Given the description of an element on the screen output the (x, y) to click on. 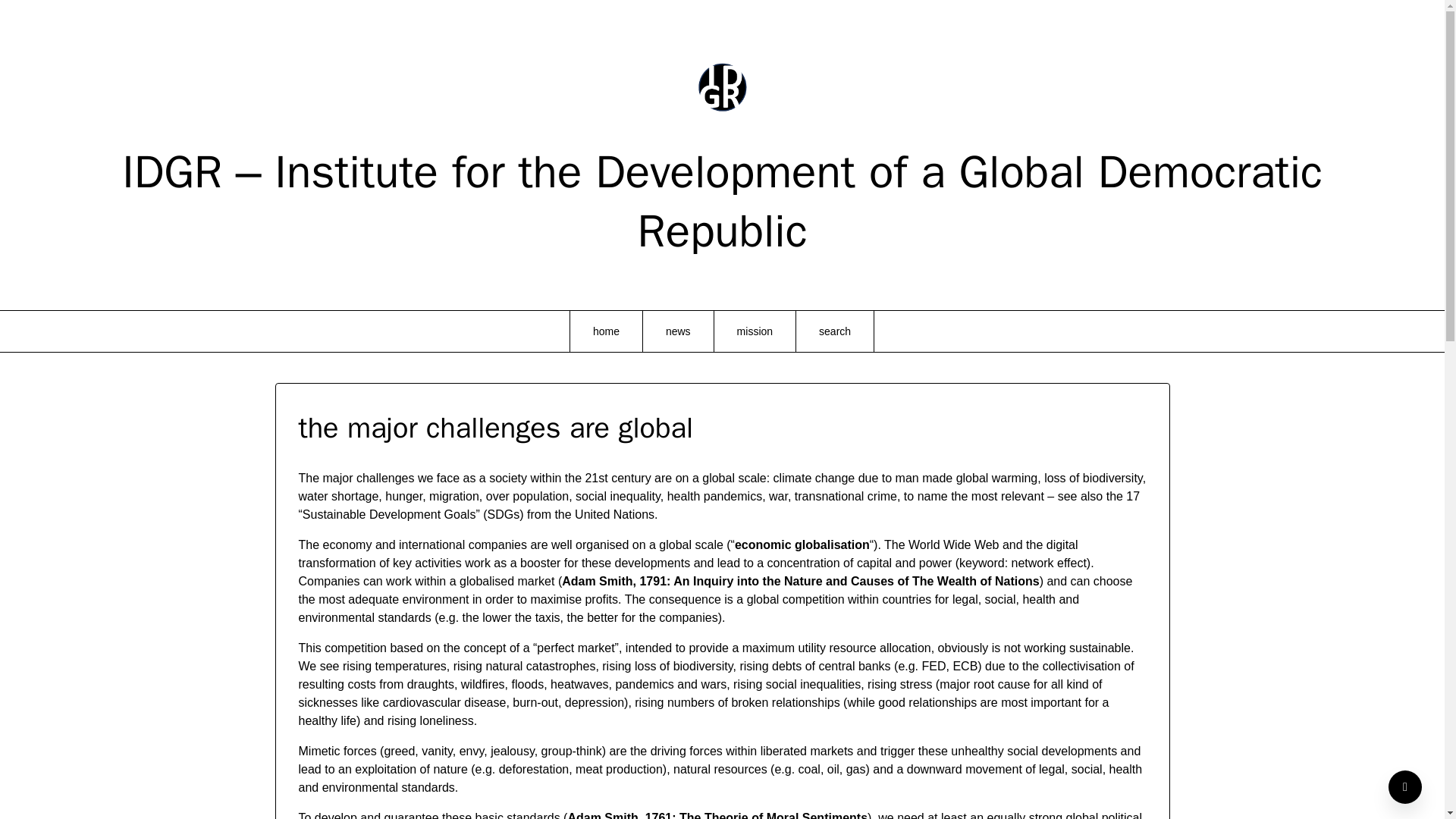
mission (754, 331)
search (834, 331)
To Top (1405, 786)
news (678, 331)
home (606, 331)
